Given the description of an element on the screen output the (x, y) to click on. 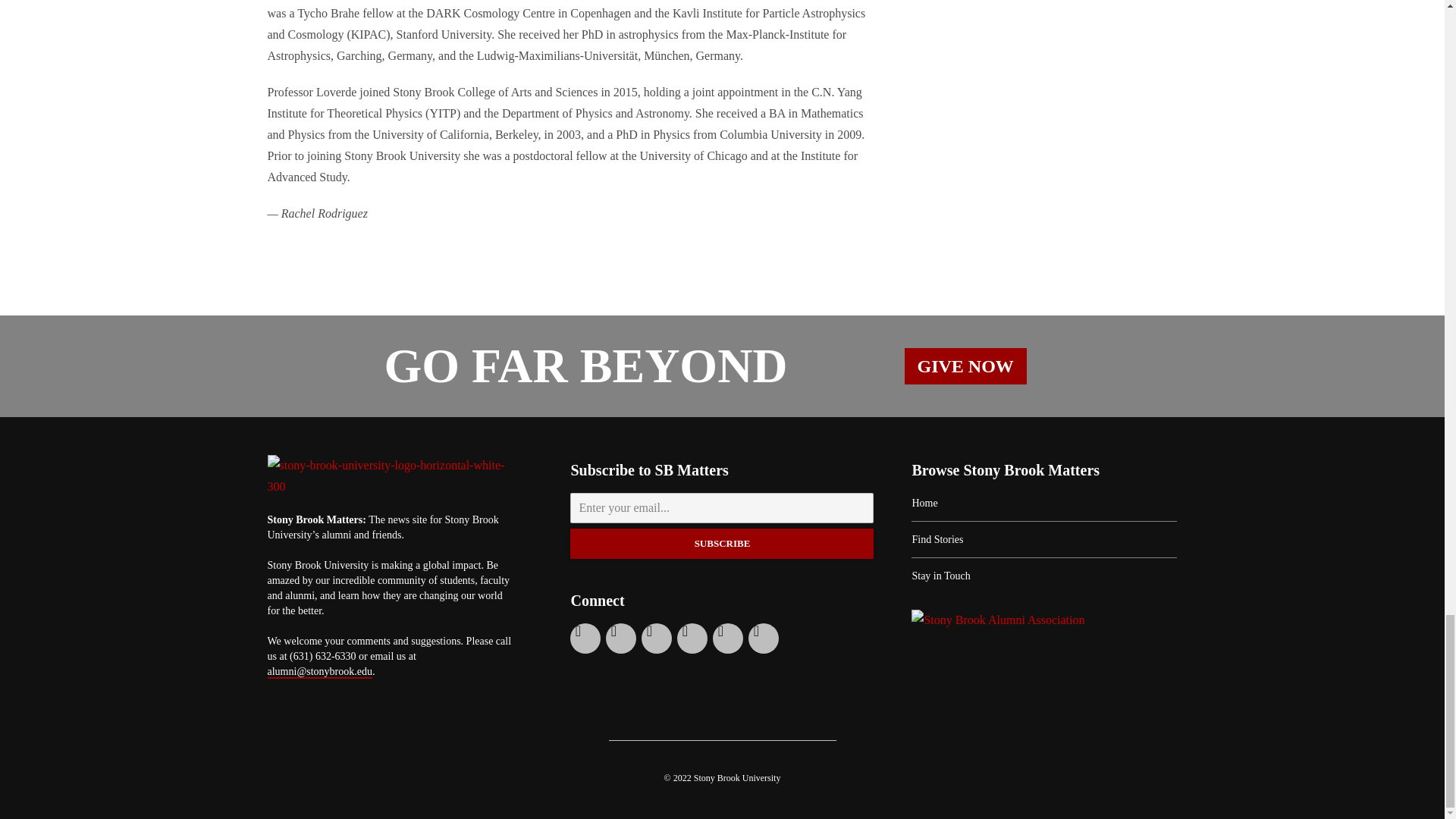
stony-brook-university-logo-horizontal-white-300 (389, 476)
